Given the description of an element on the screen output the (x, y) to click on. 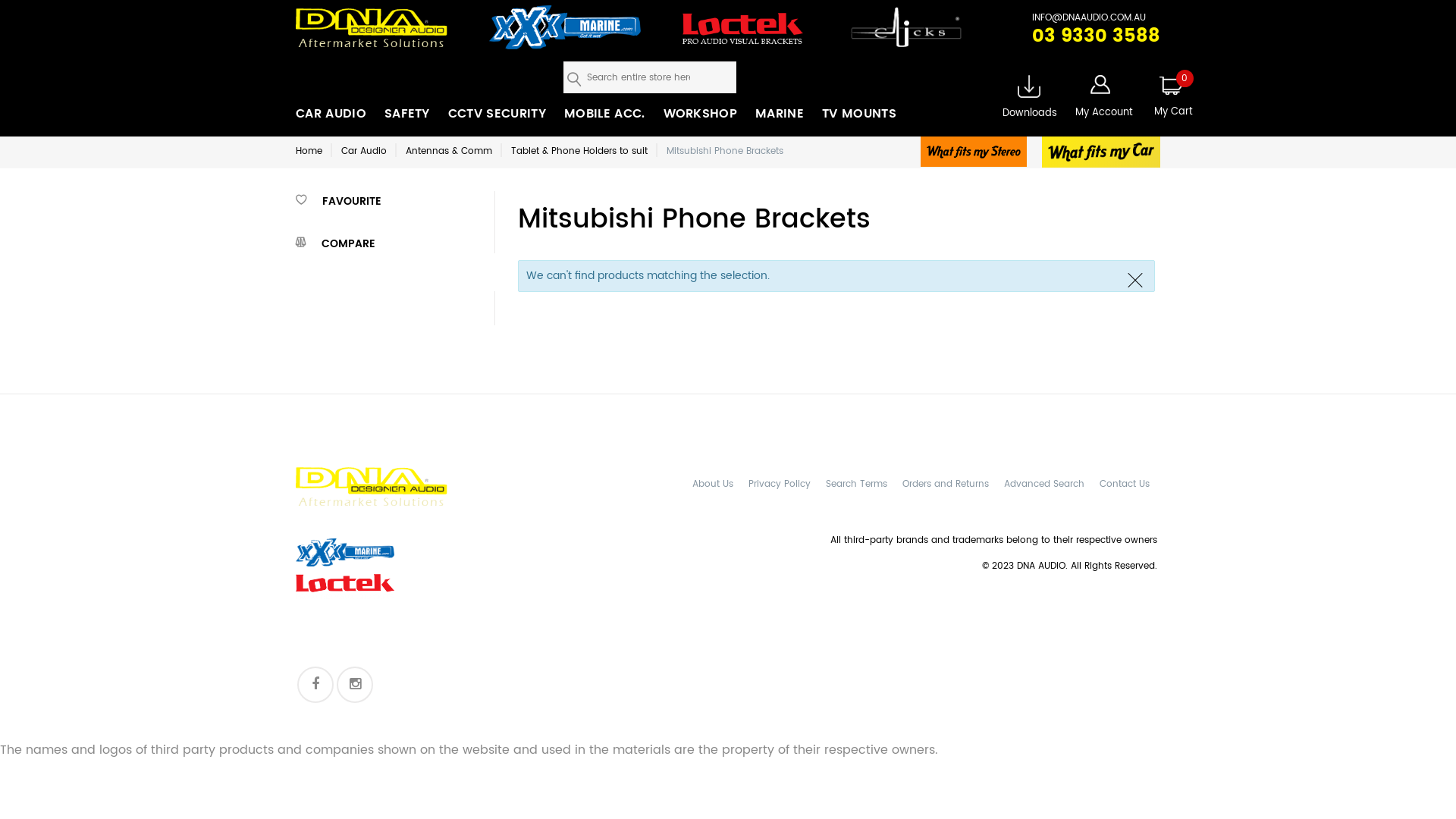
CAR AUDIO Element type: text (330, 113)
MARINE Element type: text (779, 113)
loctek Element type: hover (905, 39)
Car Audio Element type: text (363, 151)
Home Element type: text (308, 151)
dnalogo Element type: hover (371, 487)
Search Element type: hover (573, 76)
dnalogo Element type: hover (390, 37)
Search Terms Element type: text (856, 484)
loctek Element type: hover (431, 586)
CCTV SECURITY Element type: text (497, 113)
loctek Element type: hover (759, 39)
TV MOUNTS Element type: text (859, 113)
MOBILE ACC. Element type: text (604, 113)
xxxmarine Element type: hover (585, 39)
Downloads Element type: text (1029, 101)
Advanced Search Element type: text (1044, 484)
xxxmarine Element type: hover (431, 552)
0

My Cart Element type: text (1162, 99)
Contact Us Element type: text (1124, 484)
Privacy Policy Element type: text (779, 484)
WORKSHOP Element type: text (700, 113)
About Us Element type: text (712, 484)
Tablet & Phone Holders to suit Element type: text (579, 151)
Orders and Returns Element type: text (945, 484)
SAFETY Element type: text (406, 113)
Antennas & Comm Element type: text (448, 151)
loctek Element type: hover (431, 620)
My Account Element type: text (1103, 100)
